Given the description of an element on the screen output the (x, y) to click on. 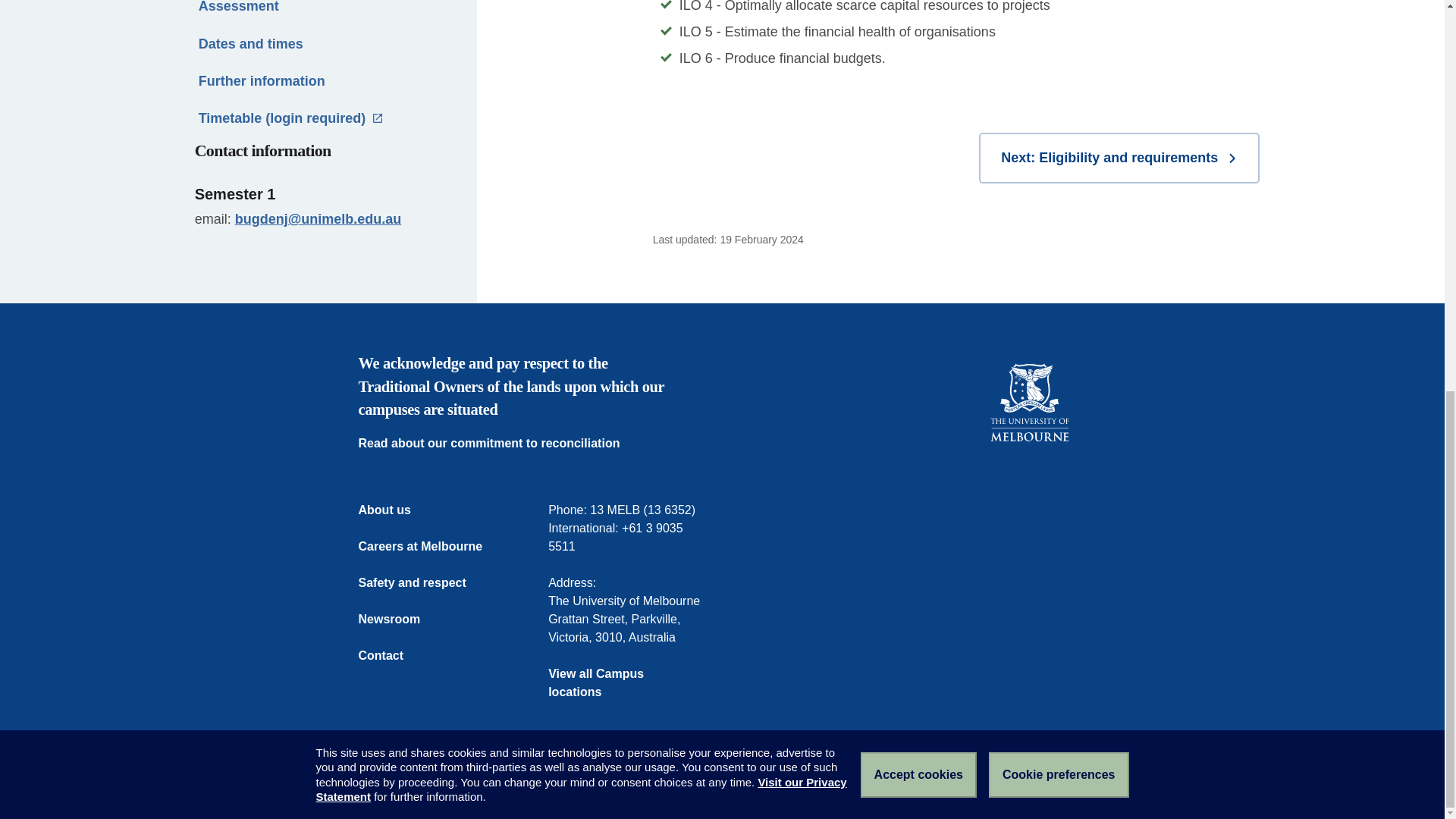
Contact (390, 656)
View all Campus locations (627, 683)
Read about our commitment to reconciliation (498, 443)
Emergency (386, 784)
Privacy (617, 784)
VaxFACTS (674, 784)
About us (393, 510)
Next: Eligibility and requirements (1118, 157)
Careers at Melbourne (429, 546)
Safety and respect (421, 583)
Newsroom (398, 619)
Accessibility (553, 784)
